Given the description of an element on the screen output the (x, y) to click on. 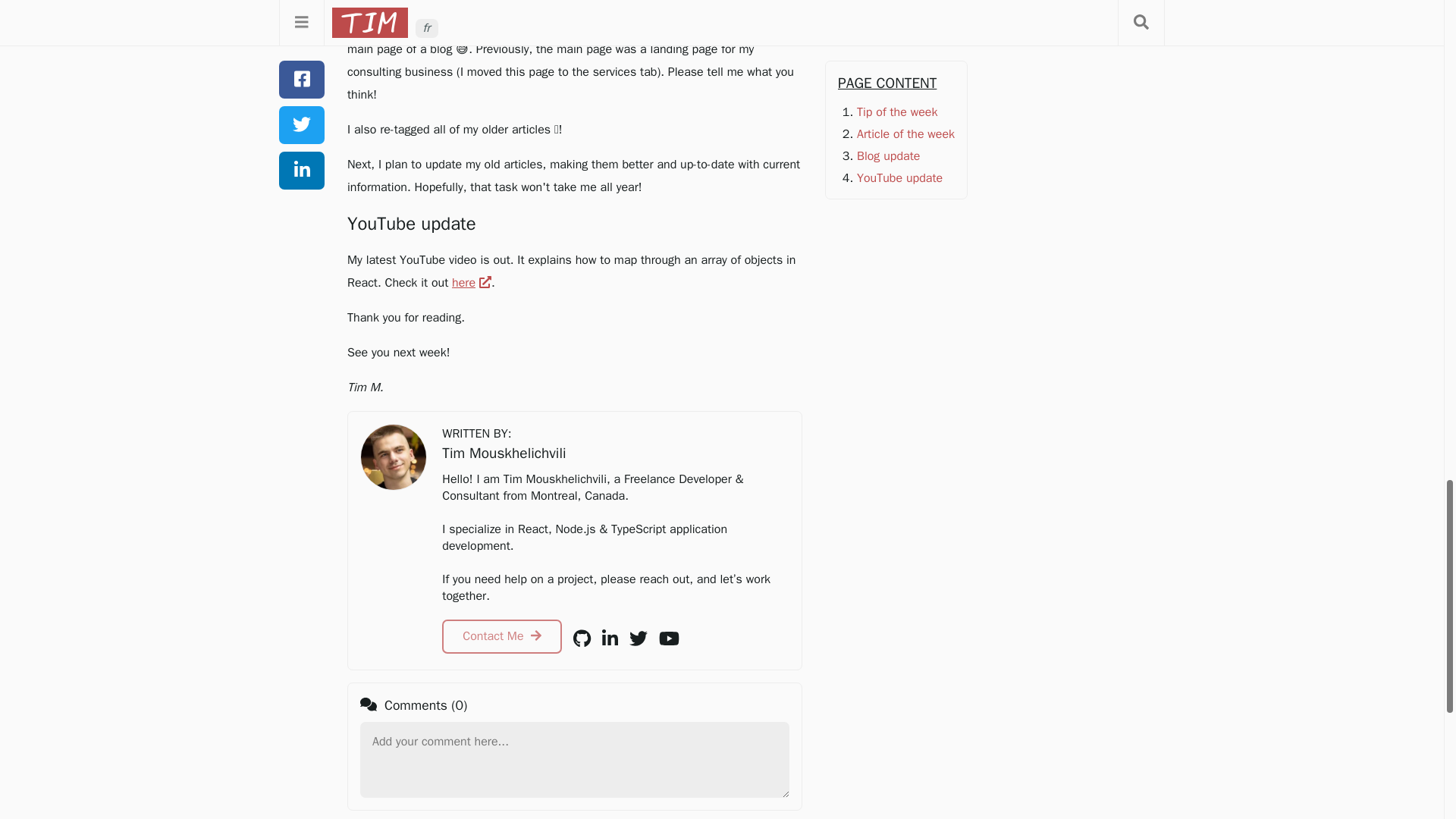
Tim Mouskhelichvili (392, 457)
here (471, 282)
main page (653, 26)
